Given the description of an element on the screen output the (x, y) to click on. 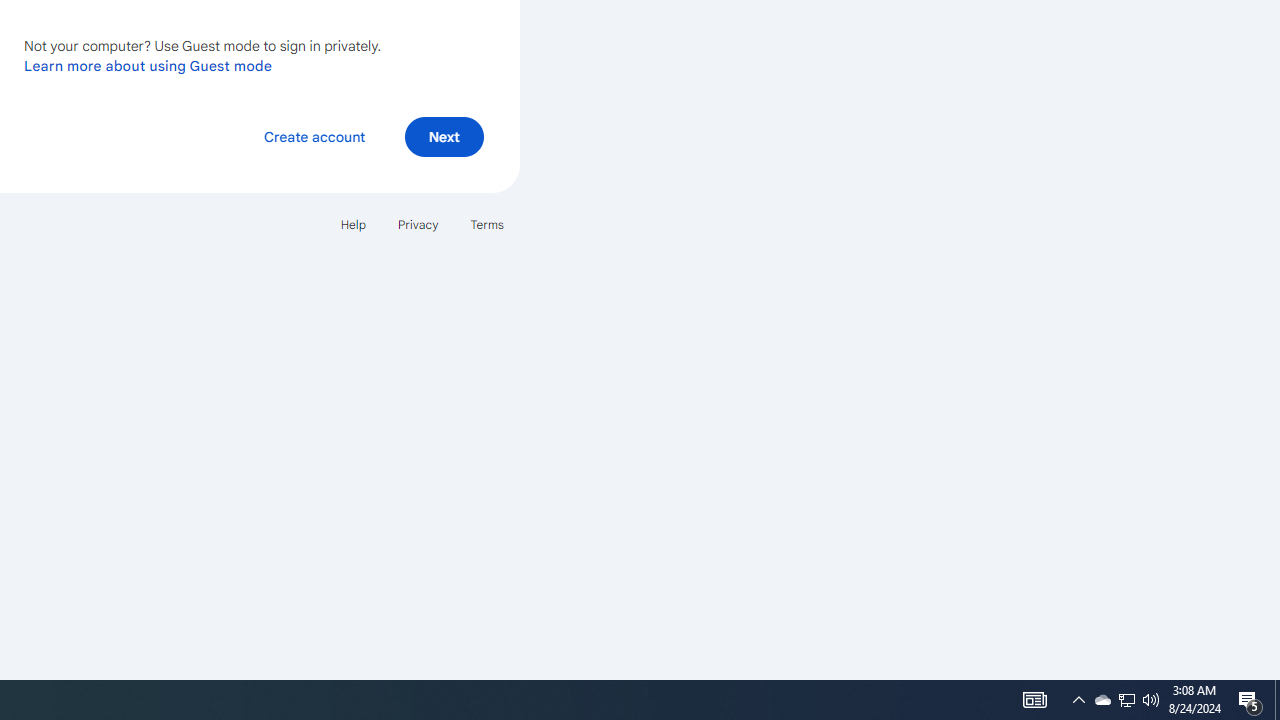
Privacy (417, 224)
Learn more about using Guest mode (148, 65)
Next (443, 135)
Help (352, 224)
Create account (314, 135)
